Given the description of an element on the screen output the (x, y) to click on. 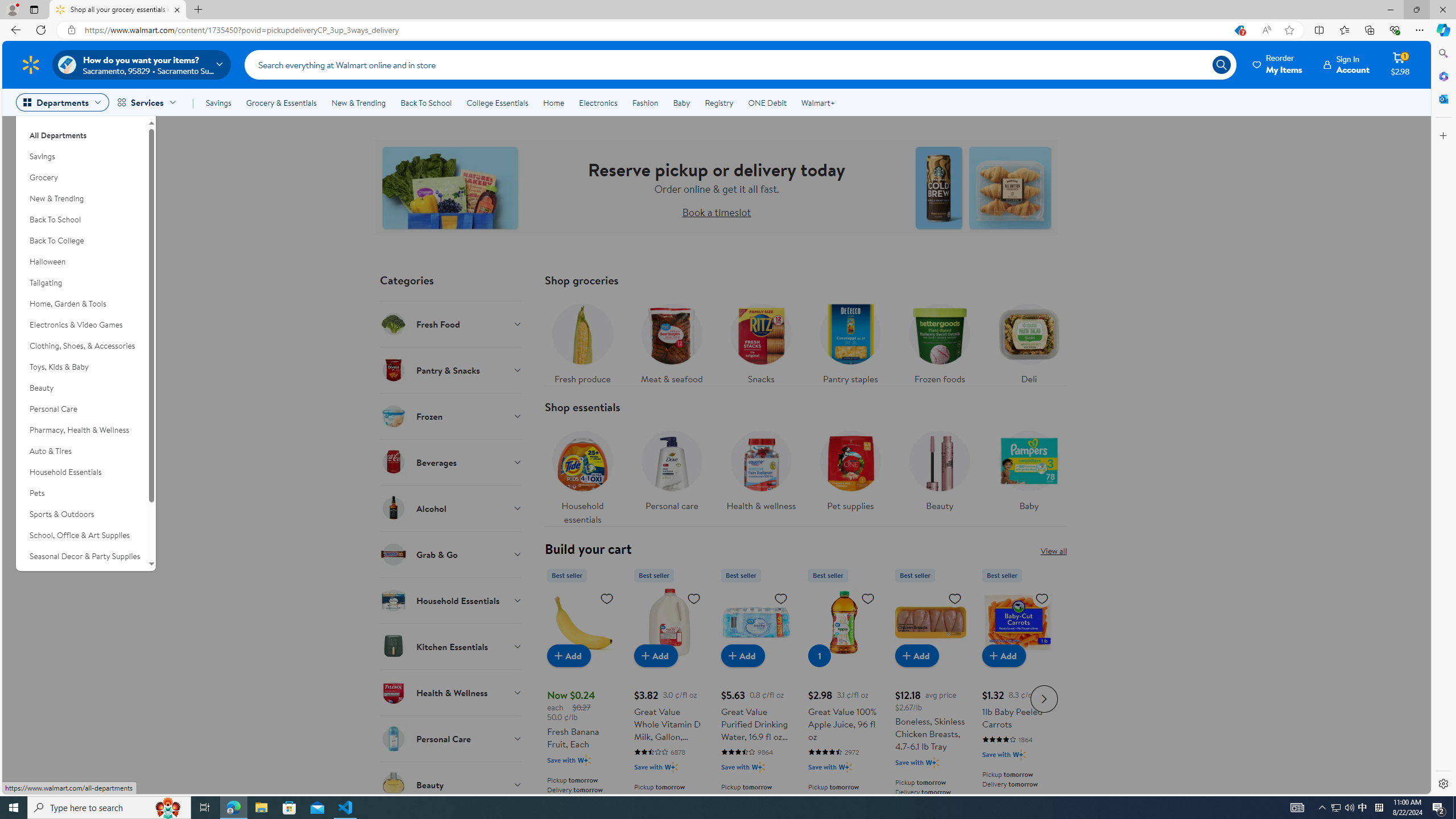
Toys, Kids & Baby (81, 366)
Seasonal Decor & Party Supplies (81, 556)
Seasonal Decor & Party Supplies (81, 556)
Pharmacy, Health & Wellness (81, 429)
View all (1053, 550)
Pantry staples (850, 340)
Health & wellness (760, 467)
Clothing, Shoes, & Accessories (81, 345)
Health & wellness (761, 473)
